Given the description of an element on the screen output the (x, y) to click on. 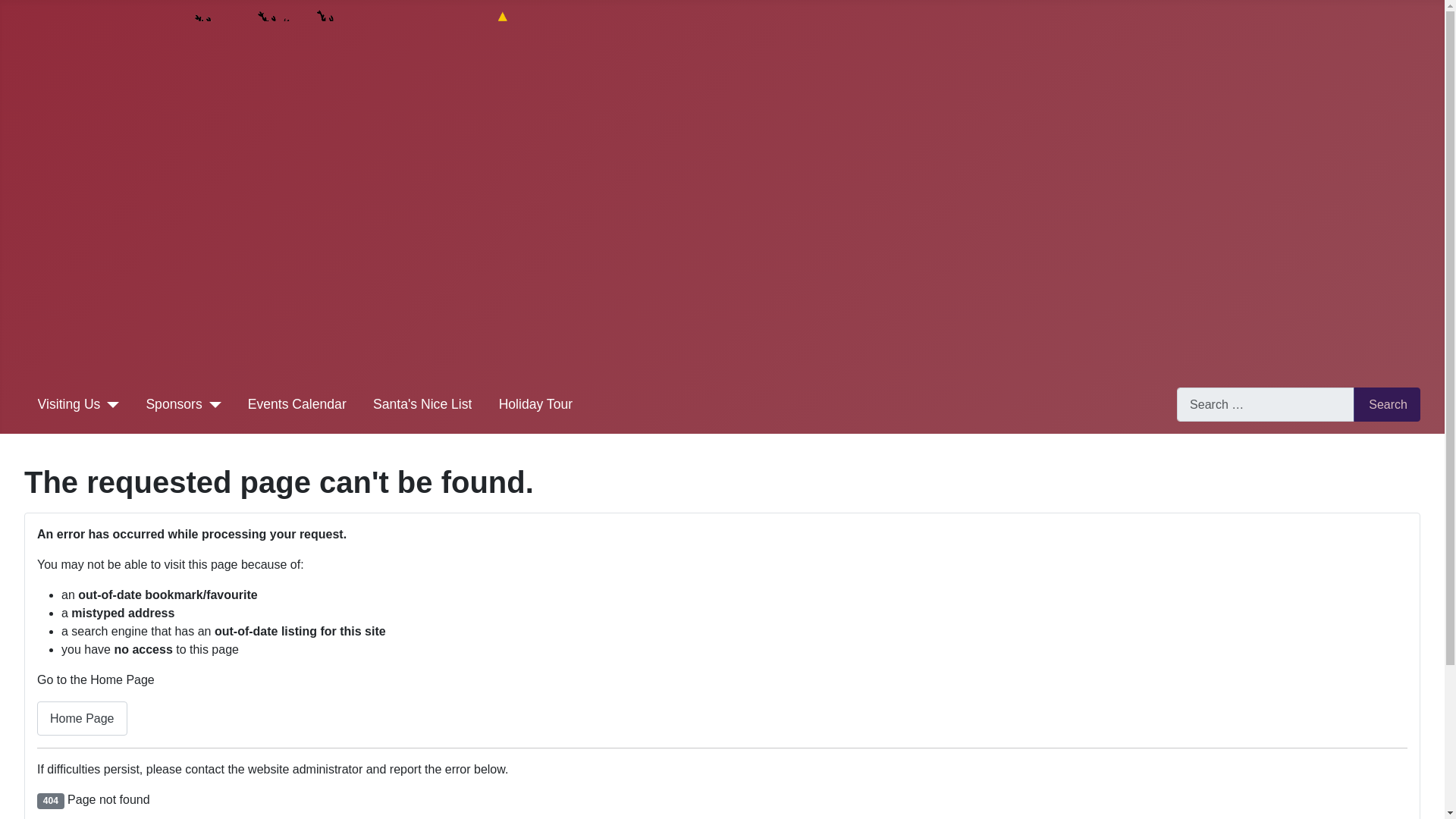
Santa's Nice List (421, 403)
Visiting Us (68, 403)
Search (1387, 404)
Sponsors (173, 403)
Events Calendar (296, 403)
Holiday Tour (535, 403)
Home Page (82, 718)
